Given the description of an element on the screen output the (x, y) to click on. 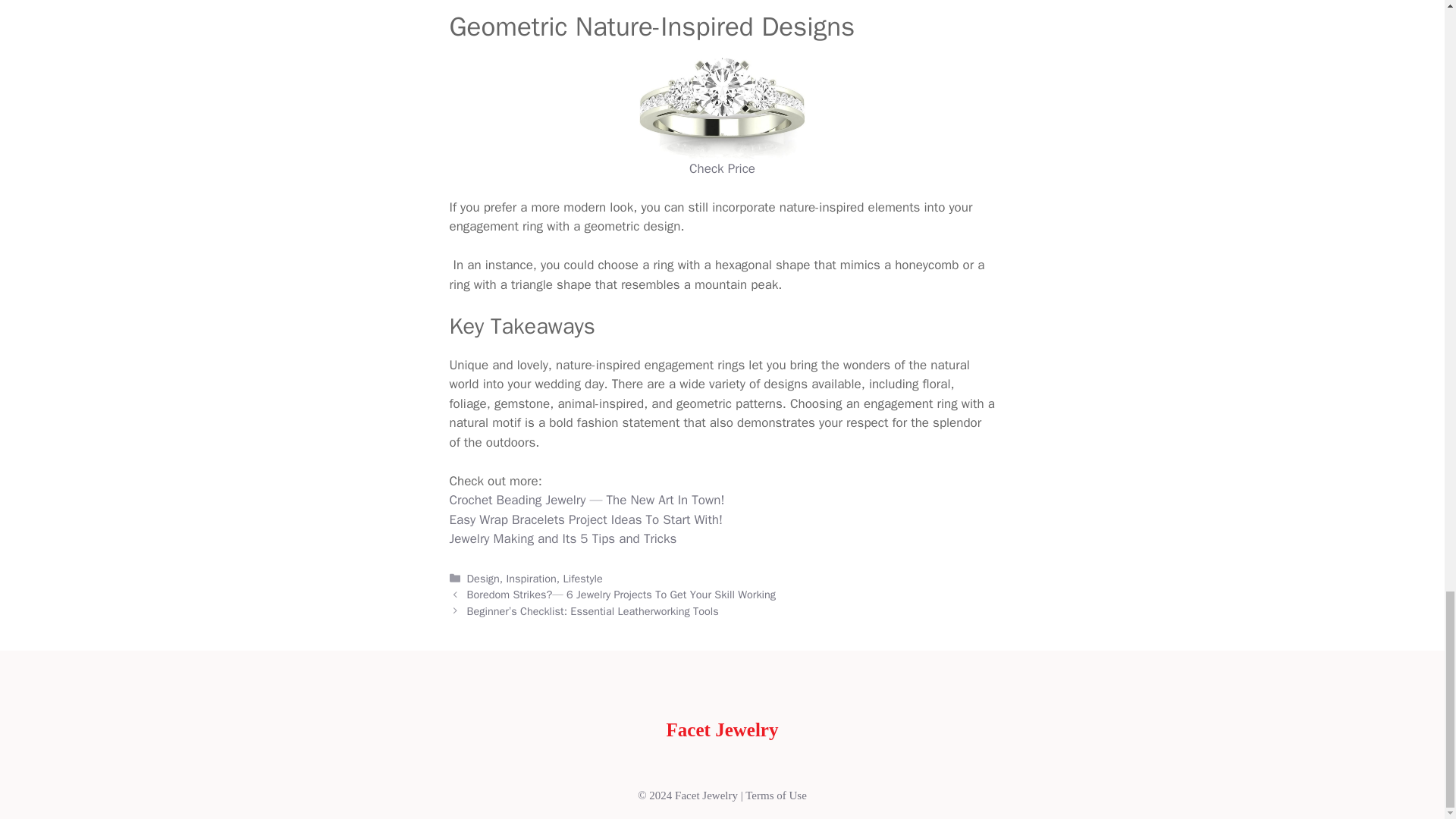
Check Price (721, 168)
Terms of Use (775, 795)
Facet Jewelry (722, 729)
Lifestyle (582, 578)
Jewelry Making and Its 5 Tips and Tricks (562, 538)
Design (483, 578)
Easy Wrap Bracelets Project Ideas To Start With! (585, 519)
Inspiration (531, 578)
